Given the description of an element on the screen output the (x, y) to click on. 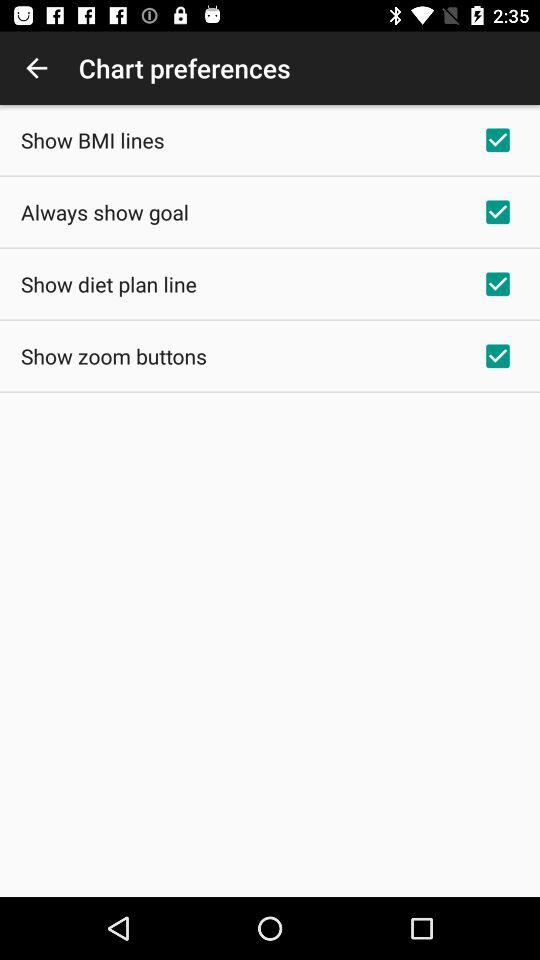
tap the app on the left (113, 355)
